Given the description of an element on the screen output the (x, y) to click on. 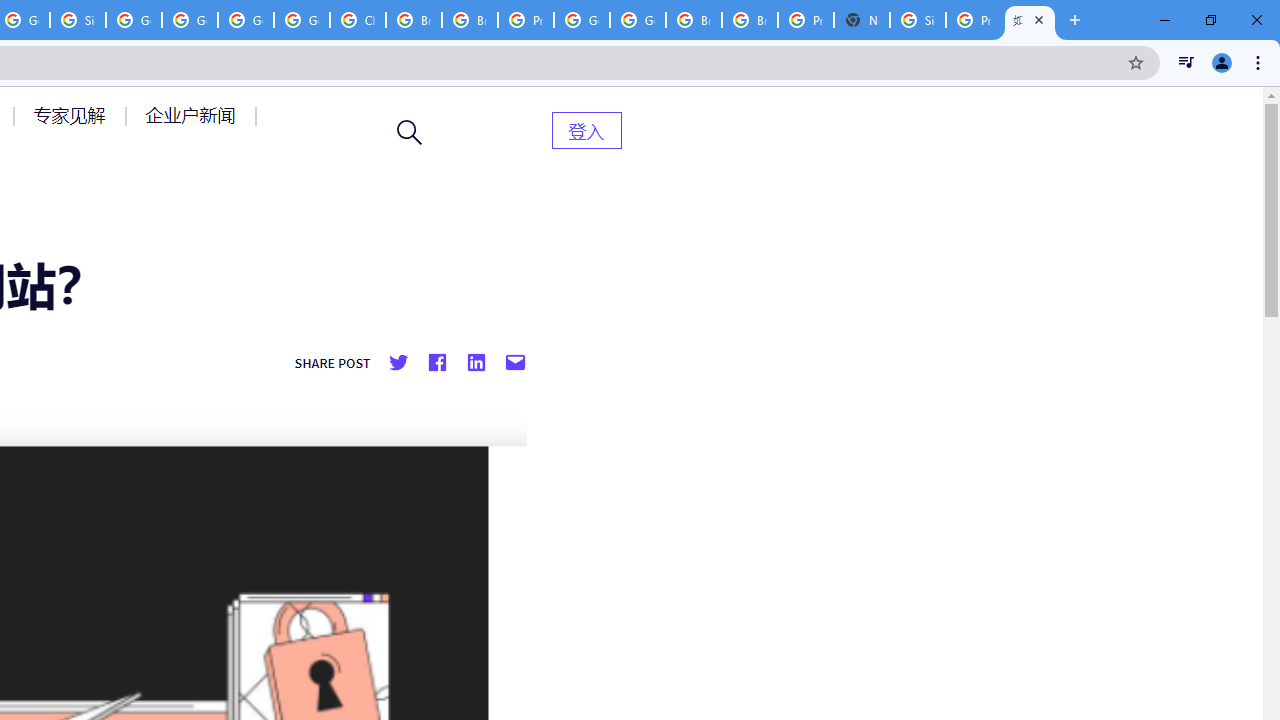
Share by mail (515, 363)
Control your music, videos, and more (1185, 62)
AutomationID: menu-item-82399 (586, 129)
